Given the description of an element on the screen output the (x, y) to click on. 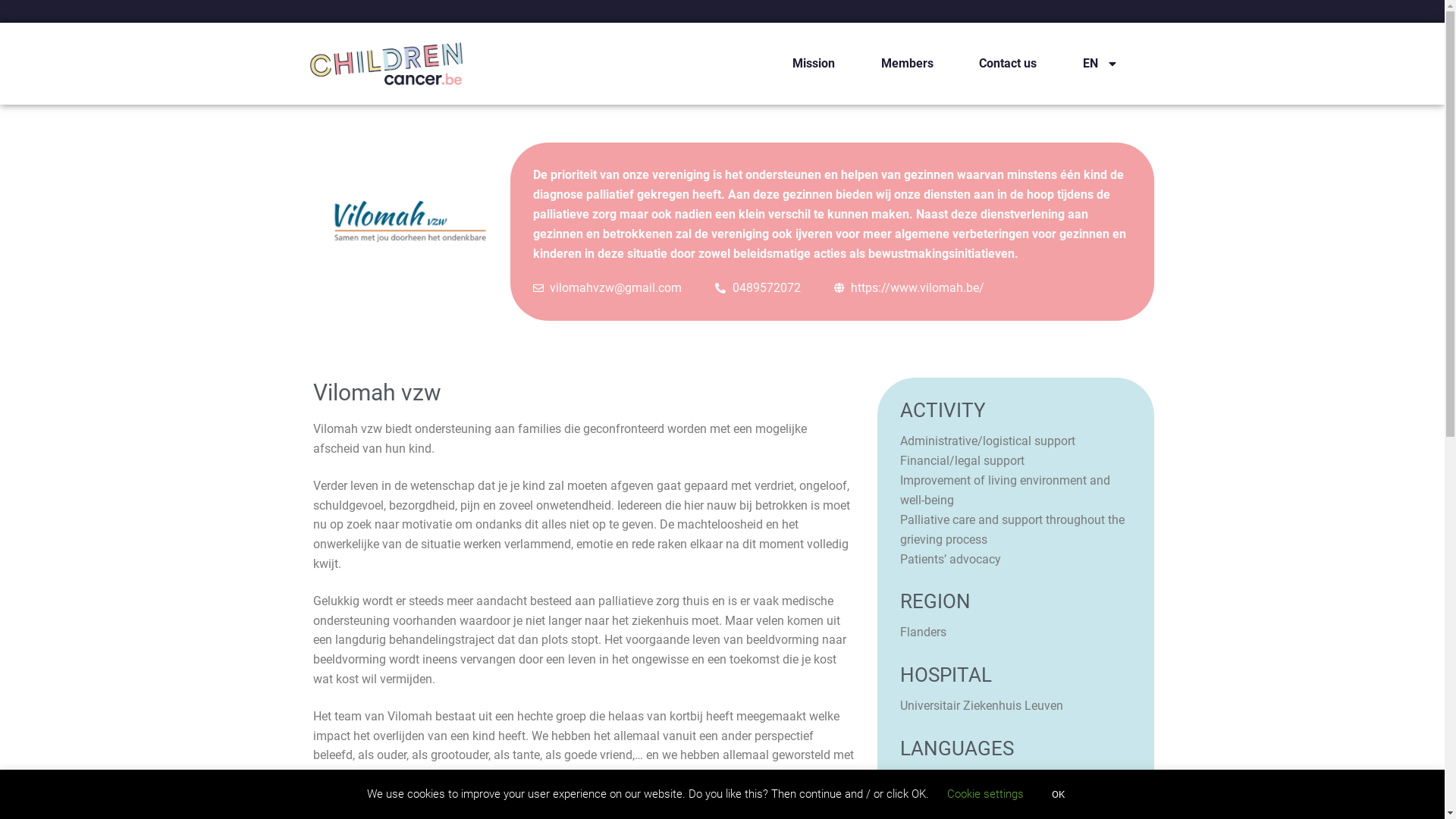
Contact us Element type: text (1008, 63)
Members Element type: text (906, 63)
Mission Element type: text (812, 63)
Cookie settings Element type: text (985, 793)
vilomahvzw@gmail.com Element type: text (607, 288)
EN
  Element type: text (1099, 63)
OK Element type: text (1057, 794)
https://www.vilomah.be/ Element type: text (909, 288)
